Given the description of an element on the screen output the (x, y) to click on. 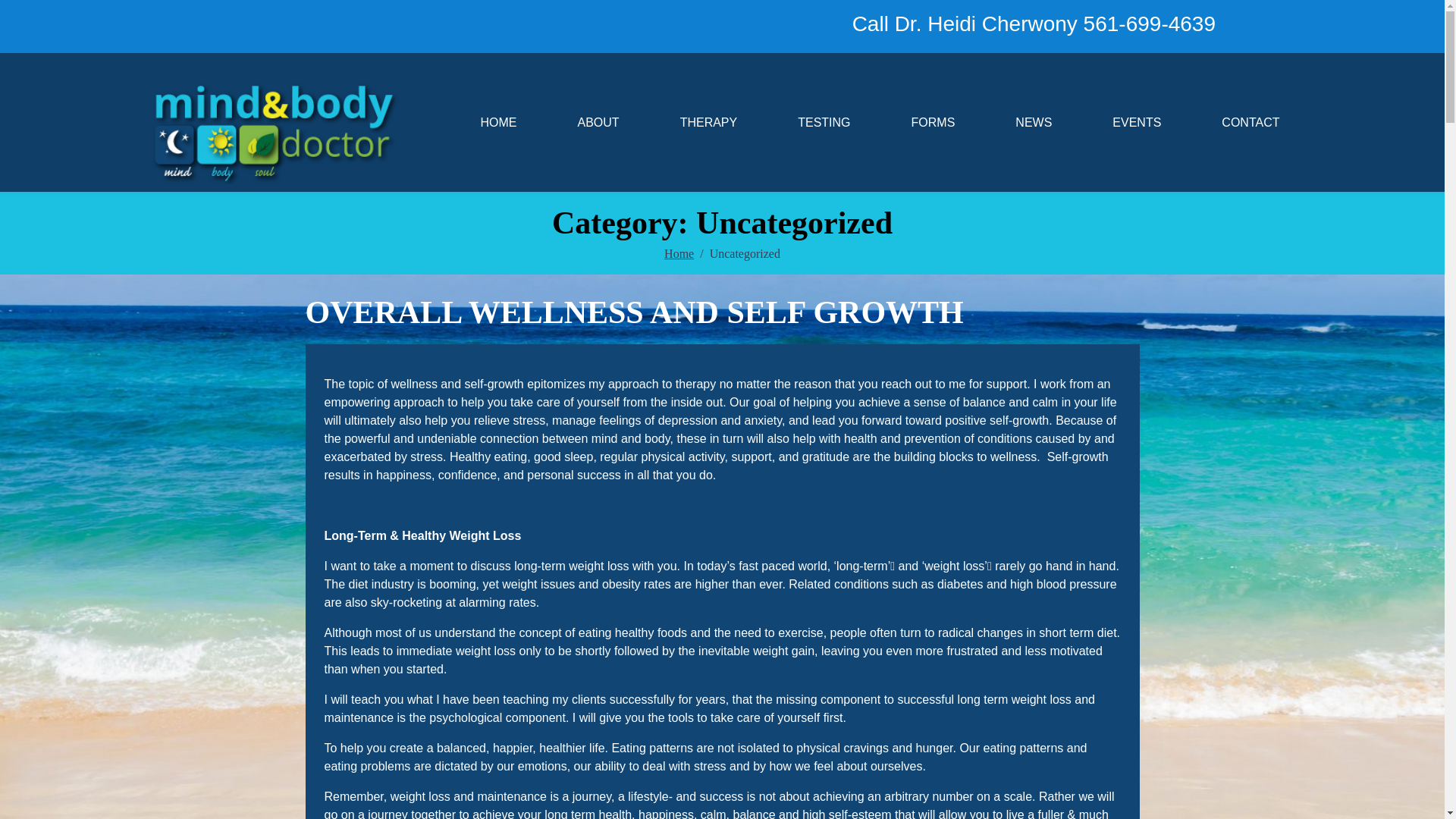
TESTING (823, 122)
FORMS (932, 122)
OVERALL WELLNESS AND SELF GROWTH (633, 312)
Home (678, 253)
NEWS (1033, 122)
EVENTS (1136, 122)
HOME (498, 122)
CONTACT (1249, 122)
THERAPY (708, 122)
OVERALL WELLNESS AND SELF GROWTH (633, 312)
ABOUT (598, 122)
